Given the description of an element on the screen output the (x, y) to click on. 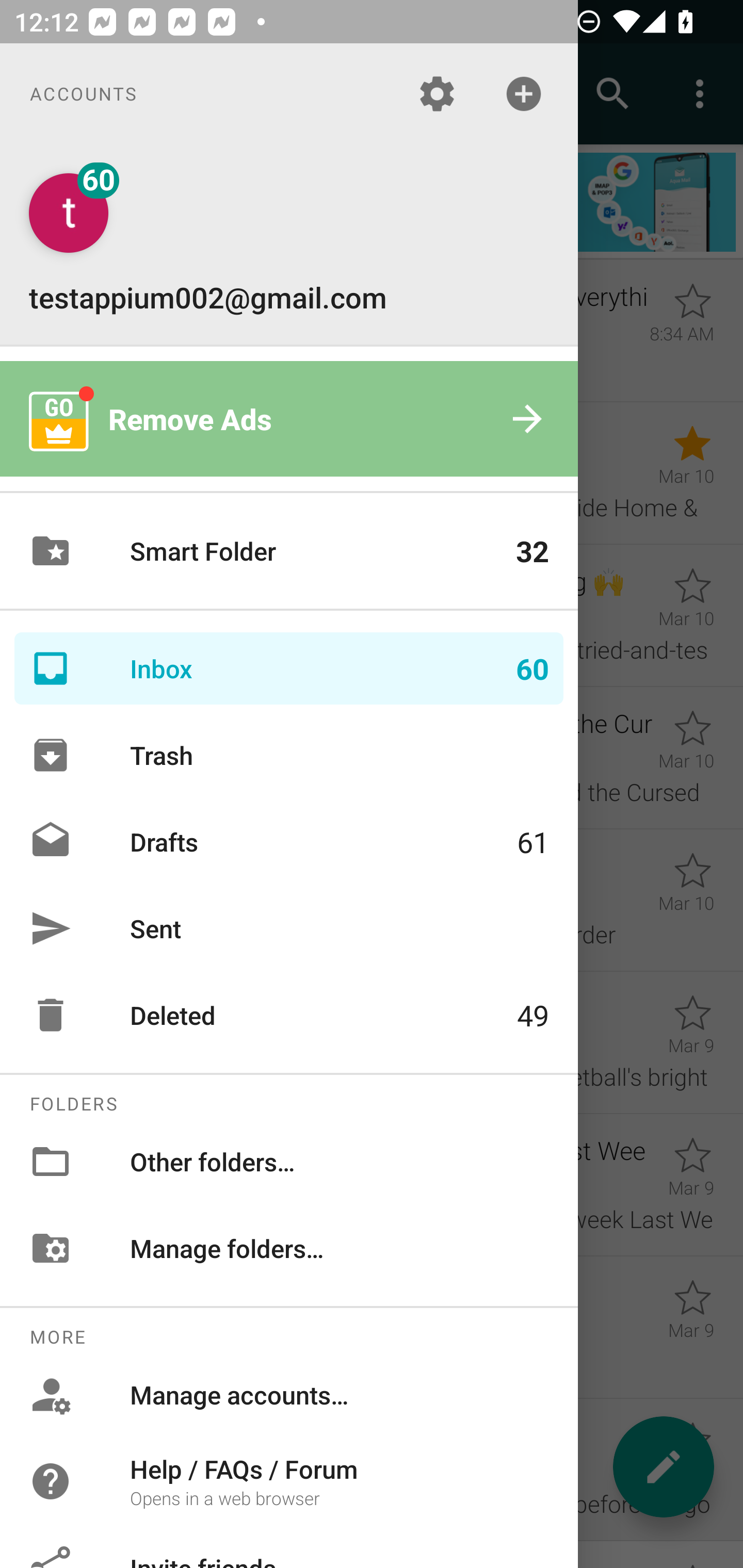
testappium002@gmail.com (289, 244)
Remove Ads (289, 418)
Smart Folder 32 (289, 551)
Inbox 60 (289, 668)
Trash (289, 754)
Drafts 61 (289, 841)
Sent (289, 928)
Deleted 49 (289, 1015)
Other folders… (289, 1160)
Manage folders… (289, 1248)
Manage accounts… (289, 1394)
Help / FAQs / Forum Opens in a web browser (289, 1480)
